Given the description of an element on the screen output the (x, y) to click on. 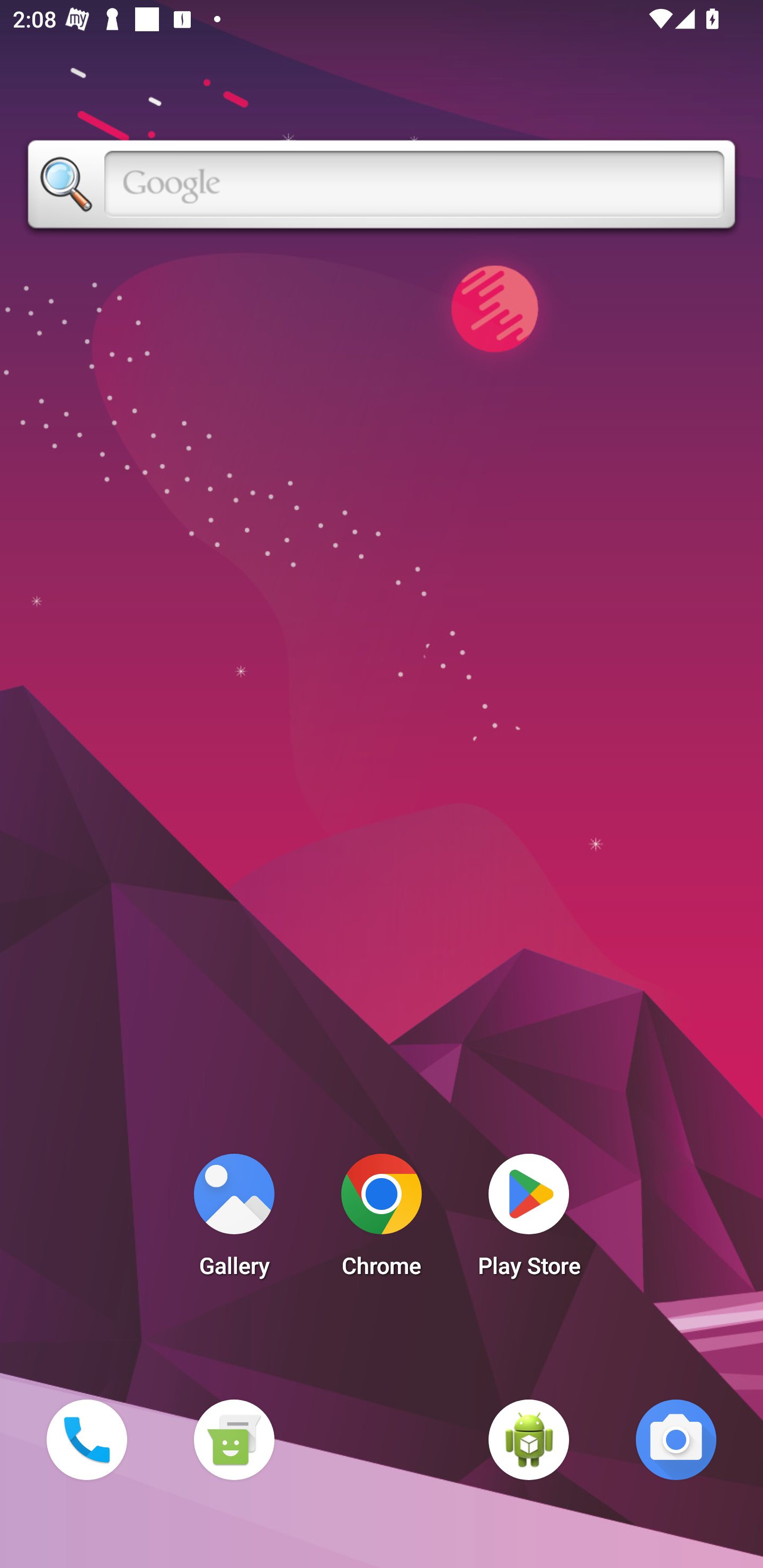
Gallery (233, 1220)
Chrome (381, 1220)
Play Store (528, 1220)
Phone (86, 1439)
Messaging (233, 1439)
WebView Browser Tester (528, 1439)
Camera (676, 1439)
